Given the description of an element on the screen output the (x, y) to click on. 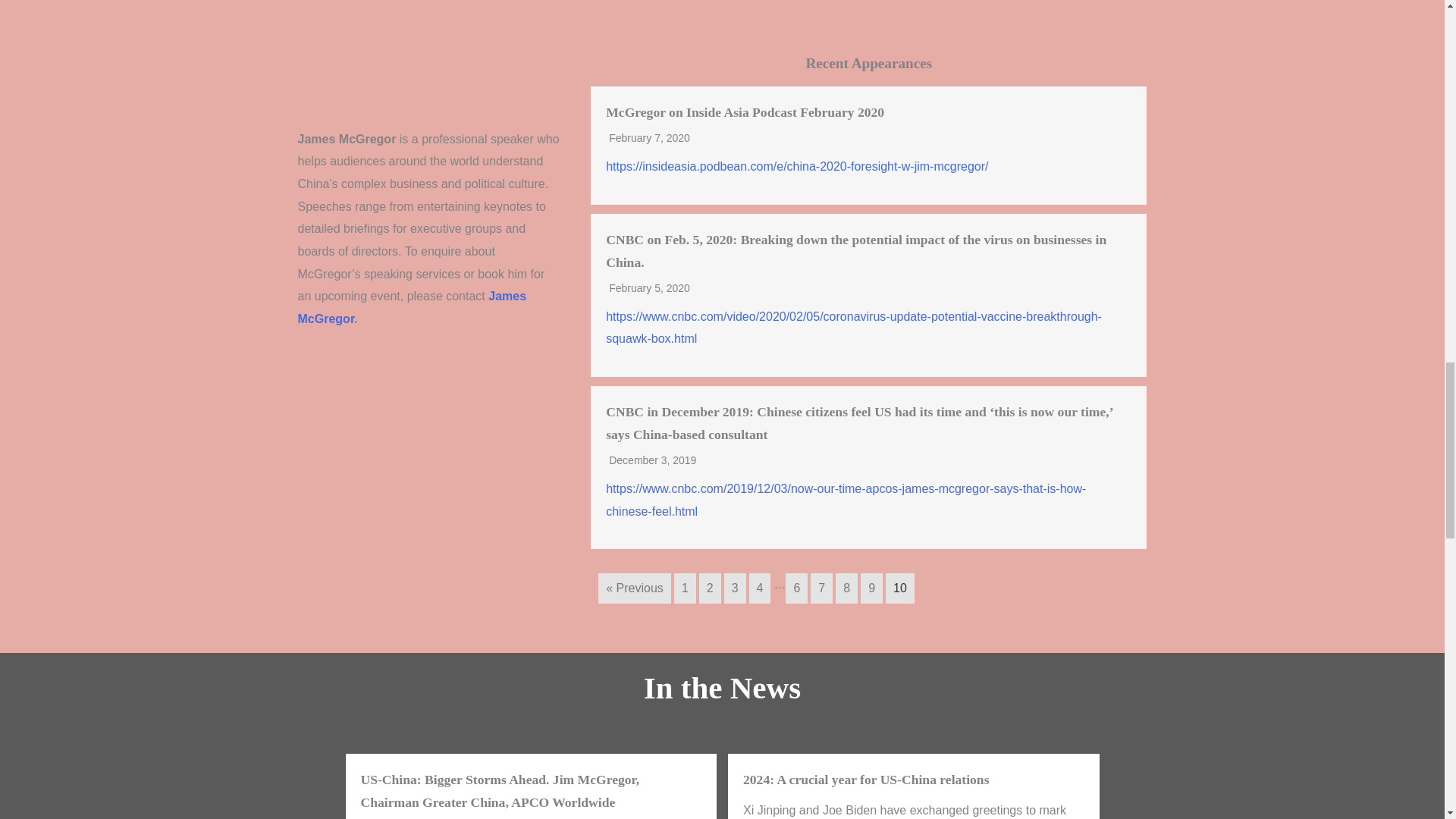
James McGregor (412, 307)
McGregor on Inside Asia Podcast February 2020 (744, 111)
